Given the description of an element on the screen output the (x, y) to click on. 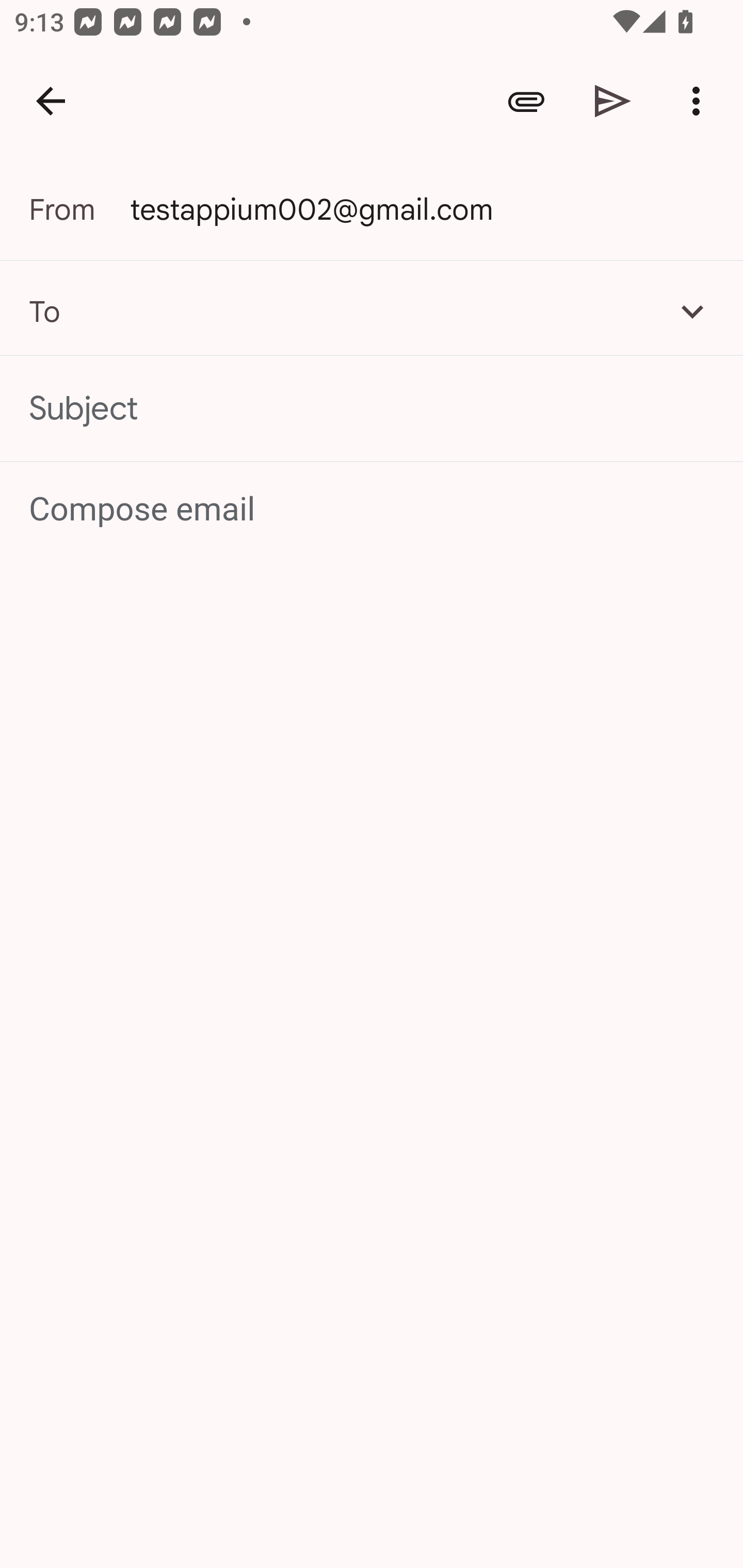
Navigate up (50, 101)
Attach file (525, 101)
Send (612, 101)
More options (699, 101)
From (79, 209)
Add Cc/Bcc (692, 311)
Subject (371, 407)
